Given the description of an element on the screen output the (x, y) to click on. 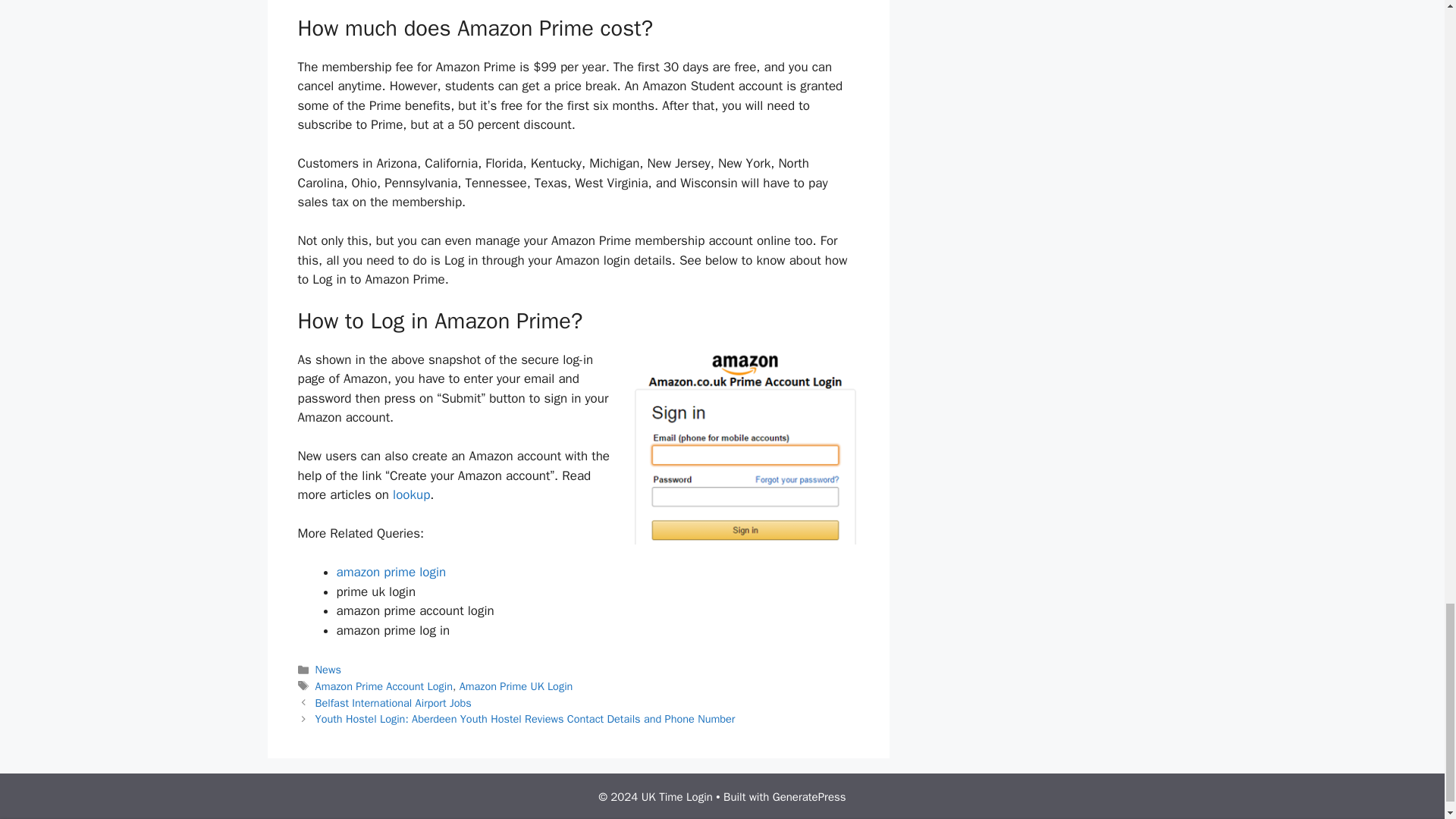
News (327, 669)
lookup (411, 494)
Amazon Prime UK Login (516, 685)
Amazon Prime Account Login (383, 685)
Belfast International Airport Jobs (393, 703)
amazon prime login (391, 571)
